Given the description of an element on the screen output the (x, y) to click on. 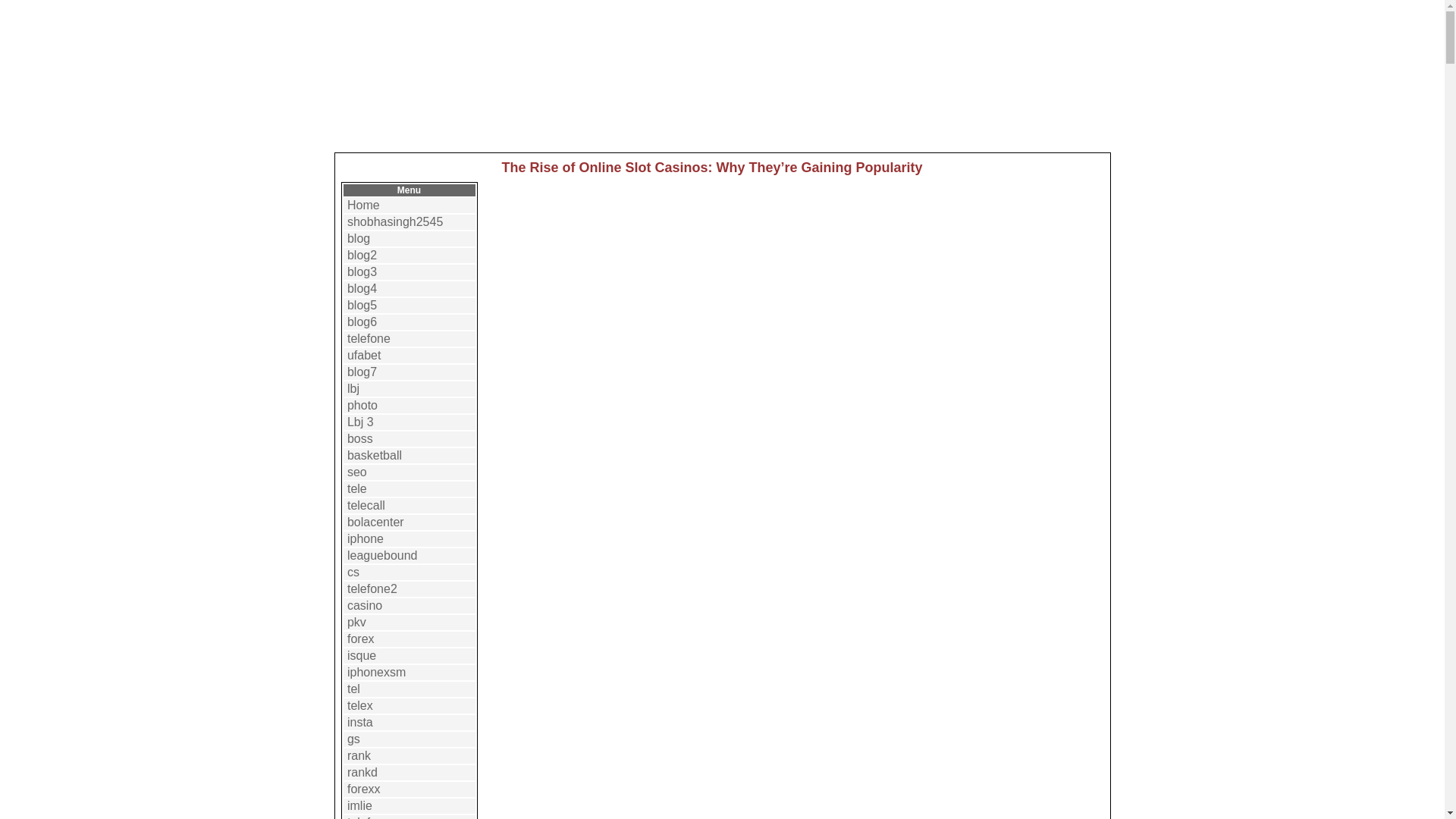
blog2 (362, 254)
pkv (356, 621)
Lbj 3 (360, 421)
boss (359, 438)
seo (356, 472)
blog6 (362, 321)
photo (362, 404)
lbj (353, 388)
telecall (366, 504)
bolacenter (375, 521)
casino (364, 604)
gs (353, 738)
telex (359, 705)
blog (358, 237)
iphone (365, 538)
